Given the description of an element on the screen output the (x, y) to click on. 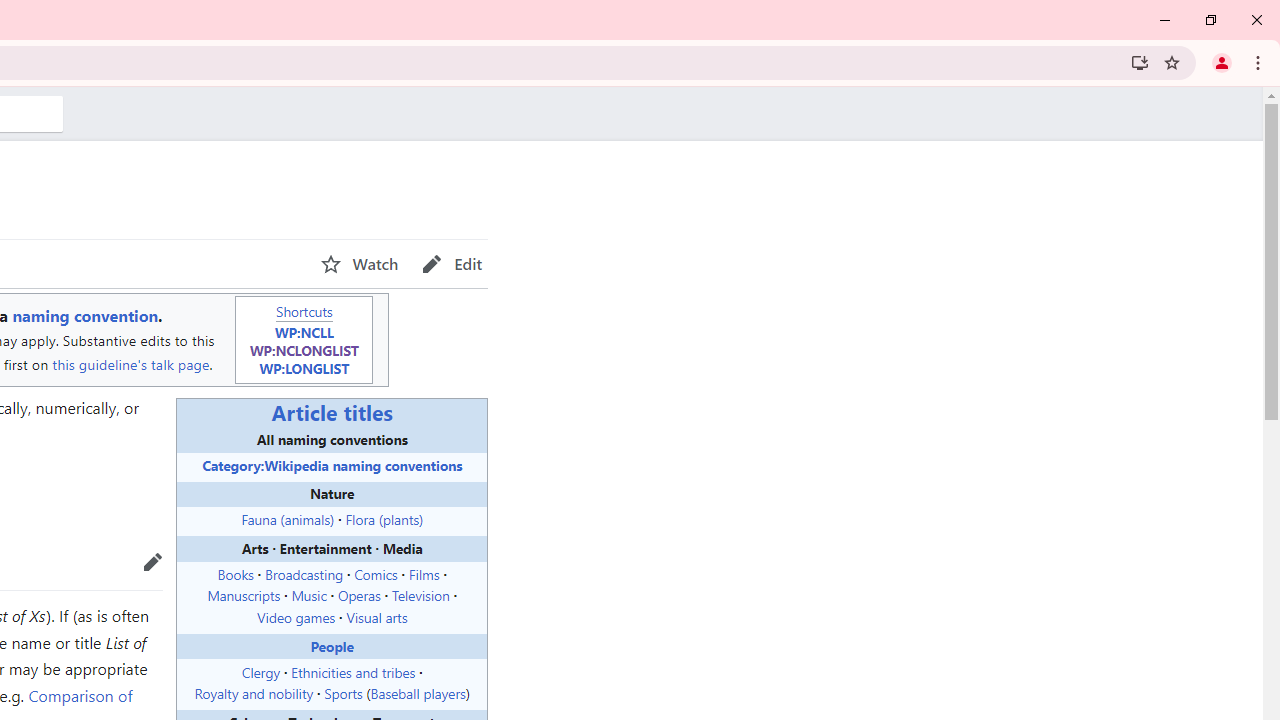
AutomationID: page-actions-edit (452, 263)
Flora (plants) (384, 519)
People (331, 645)
naming convention (84, 315)
Books (235, 573)
Video games (295, 617)
Article titles (331, 412)
